Given the description of an element on the screen output the (x, y) to click on. 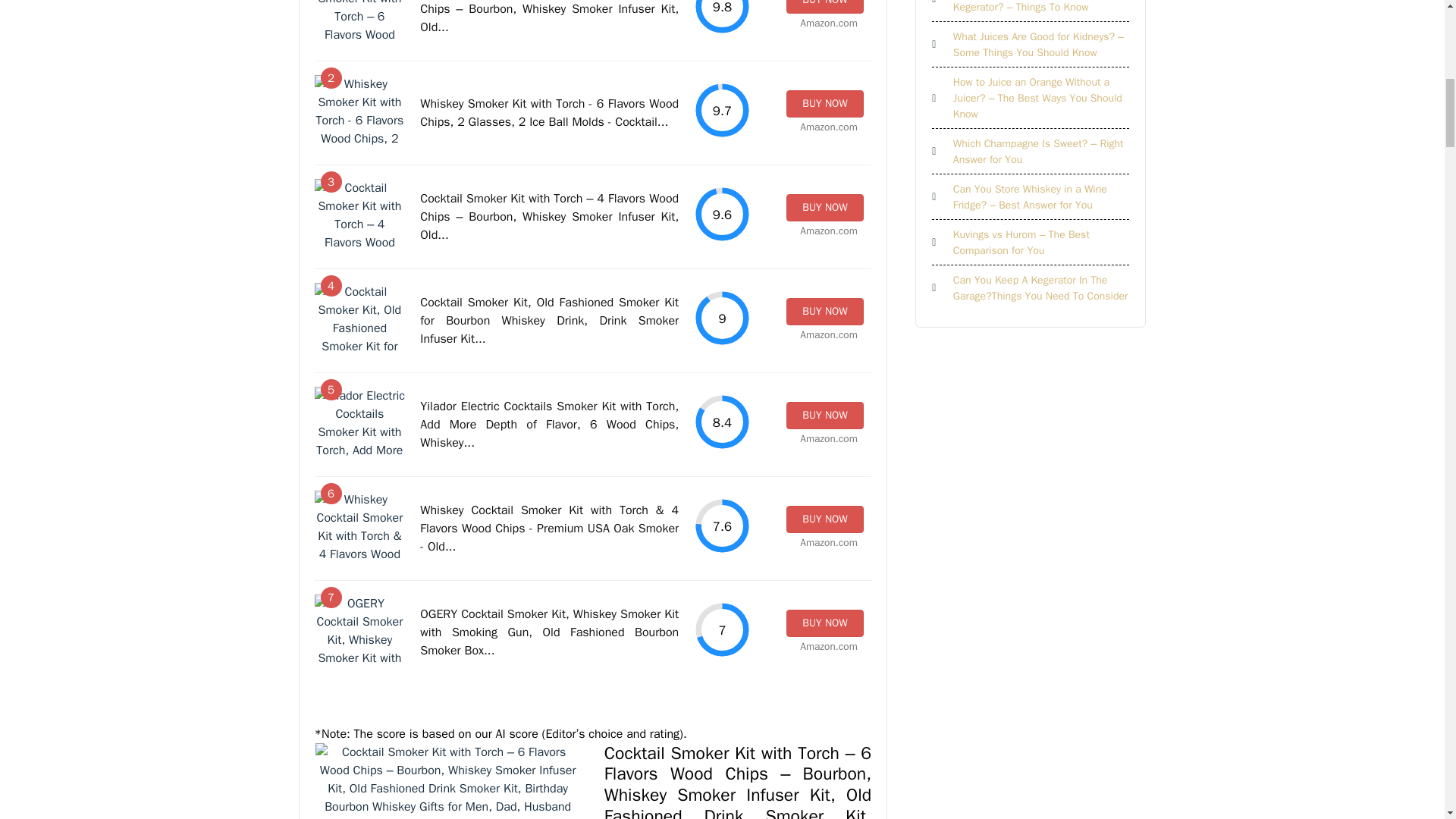
7 (722, 629)
9 (722, 317)
8.4 (722, 421)
9.8 (722, 17)
9.7 (722, 109)
9.6 (722, 213)
7.6 (722, 525)
